Given the description of an element on the screen output the (x, y) to click on. 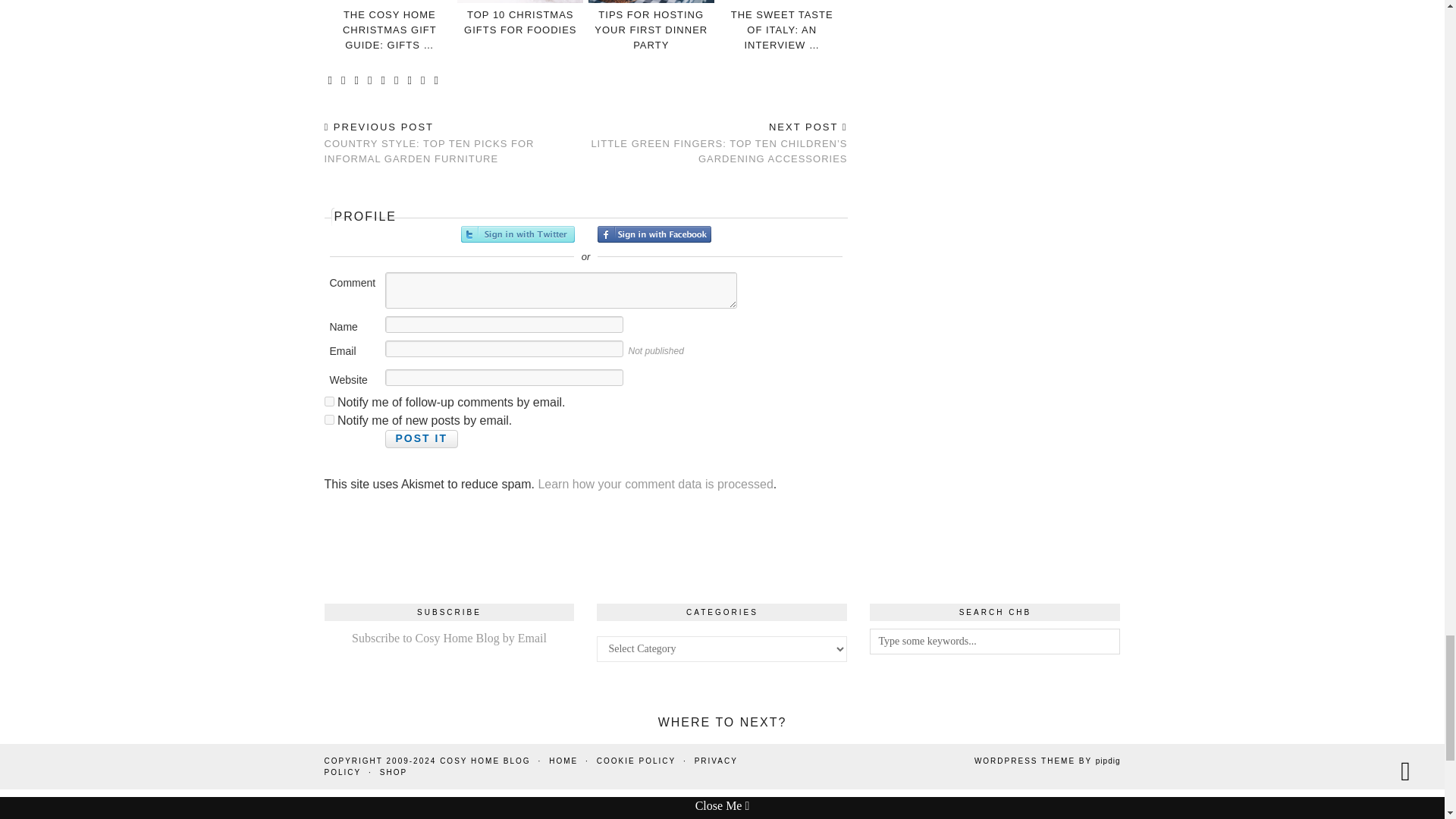
Post It (421, 438)
subscribe (329, 419)
subscribe (329, 401)
